Given the description of an element on the screen output the (x, y) to click on. 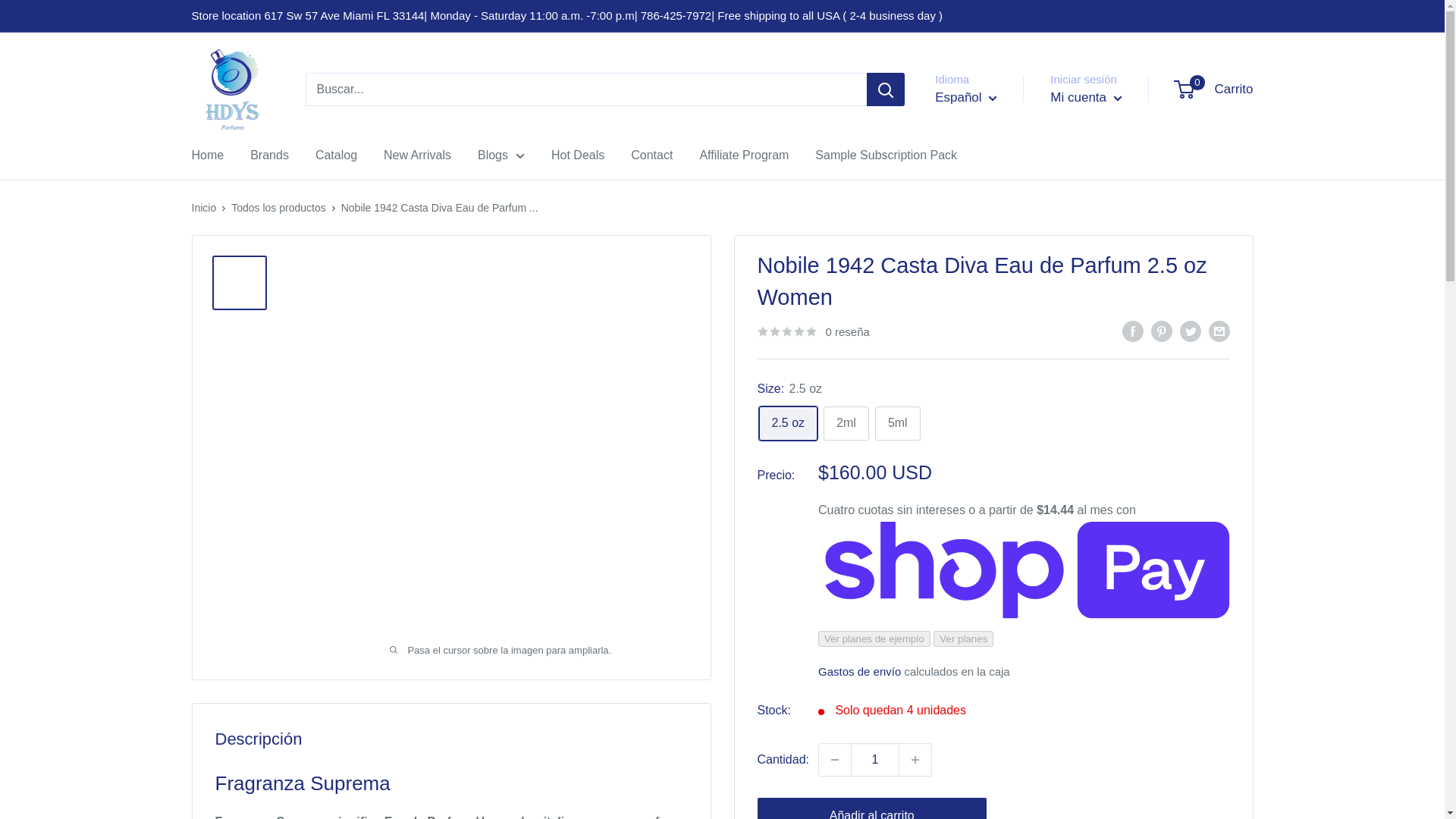
Mi cuenta (1085, 97)
es (980, 162)
2ml (846, 423)
2.5 oz (787, 423)
Disminuir la cantidad en 1 (834, 759)
en (980, 138)
5ml (897, 423)
1 (874, 759)
New Arrivals (1213, 88)
Home (417, 155)
HDYS Parfums (207, 155)
Aumentar la cantidad en 1 (232, 89)
Brands (915, 759)
Catalog (269, 155)
